Given the description of an element on the screen output the (x, y) to click on. 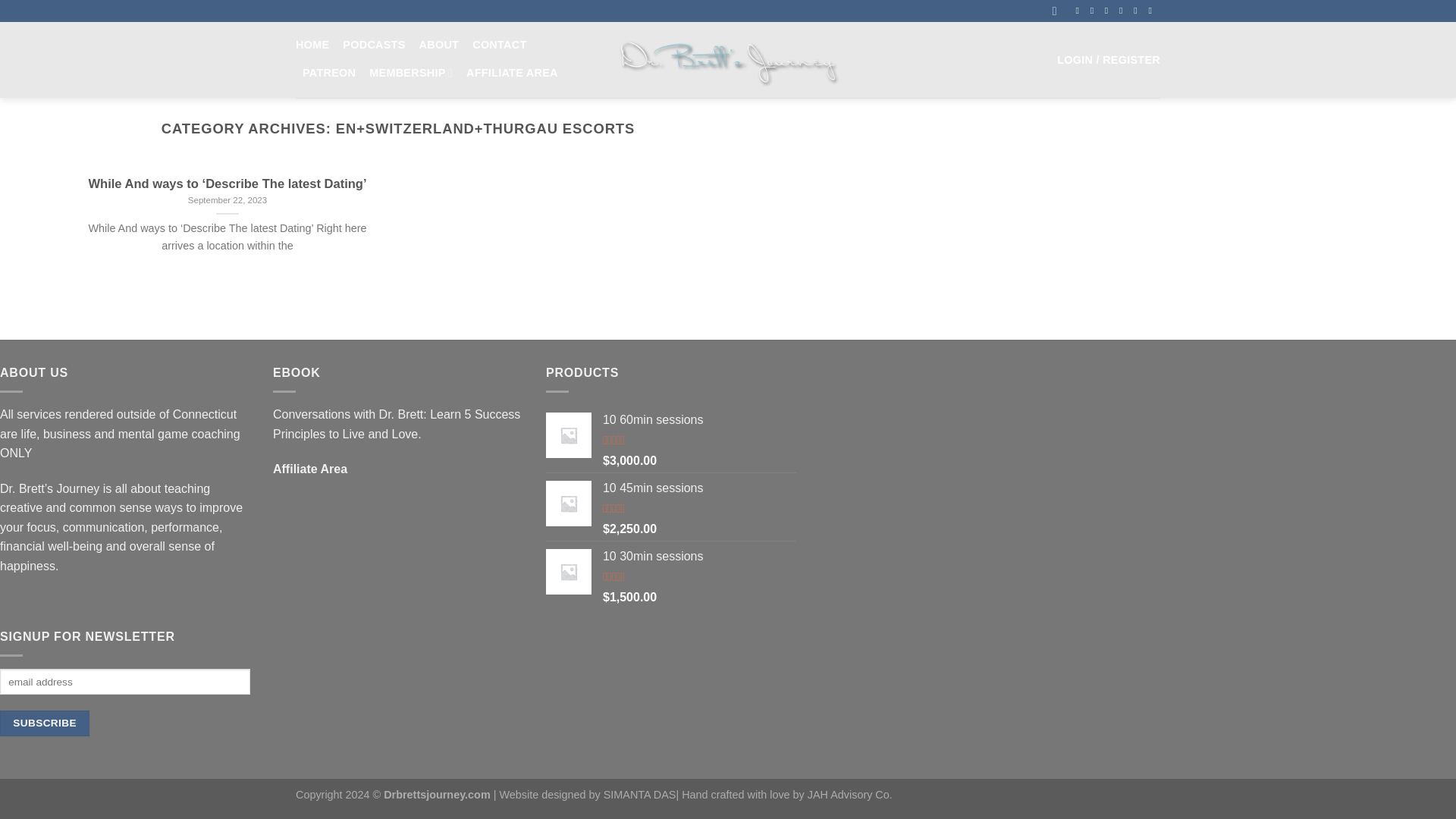
CONTACT (498, 44)
SIMANTA DAS (640, 794)
10 45min sessions (699, 488)
Subscribe (44, 723)
PODCASTS (373, 44)
ABOUT (439, 44)
10 30min sessions (699, 556)
Affiliate Area (310, 468)
10 60min sessions (699, 420)
